Given the description of an element on the screen output the (x, y) to click on. 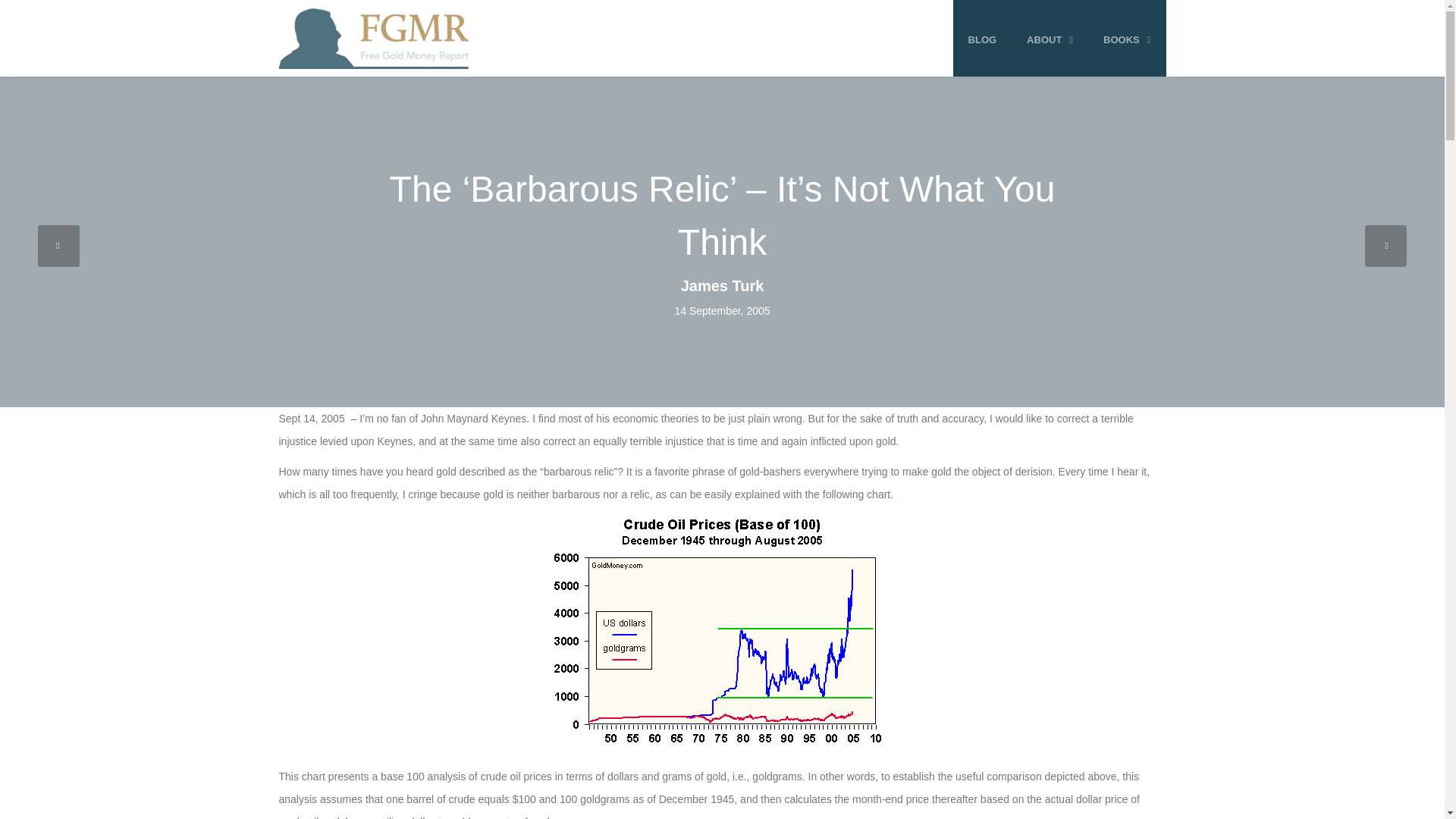
James Turk (721, 285)
BOOKS (1126, 39)
James Turk Blog (373, 38)
ABOUT (1049, 39)
Posts by James Turk (721, 285)
BLOG (982, 39)
